Given the description of an element on the screen output the (x, y) to click on. 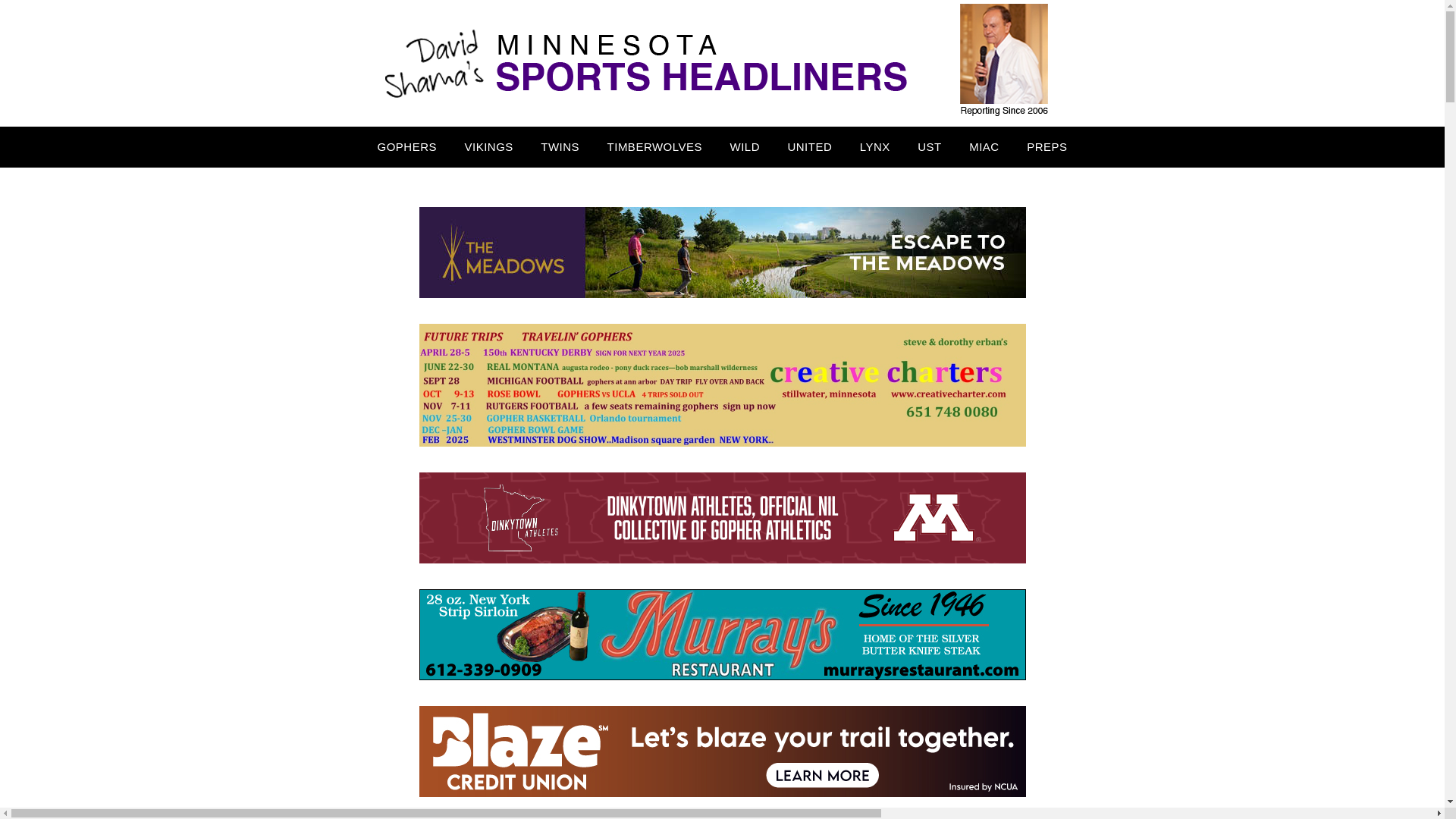
UST (929, 146)
UNITED (809, 146)
TIMBERWOLVES (654, 146)
VIKINGS (487, 146)
WILD (744, 146)
TWINS (559, 146)
LYNX (874, 146)
PREPS (1046, 146)
GOPHERS (406, 146)
MIAC (983, 146)
